Given the description of an element on the screen output the (x, y) to click on. 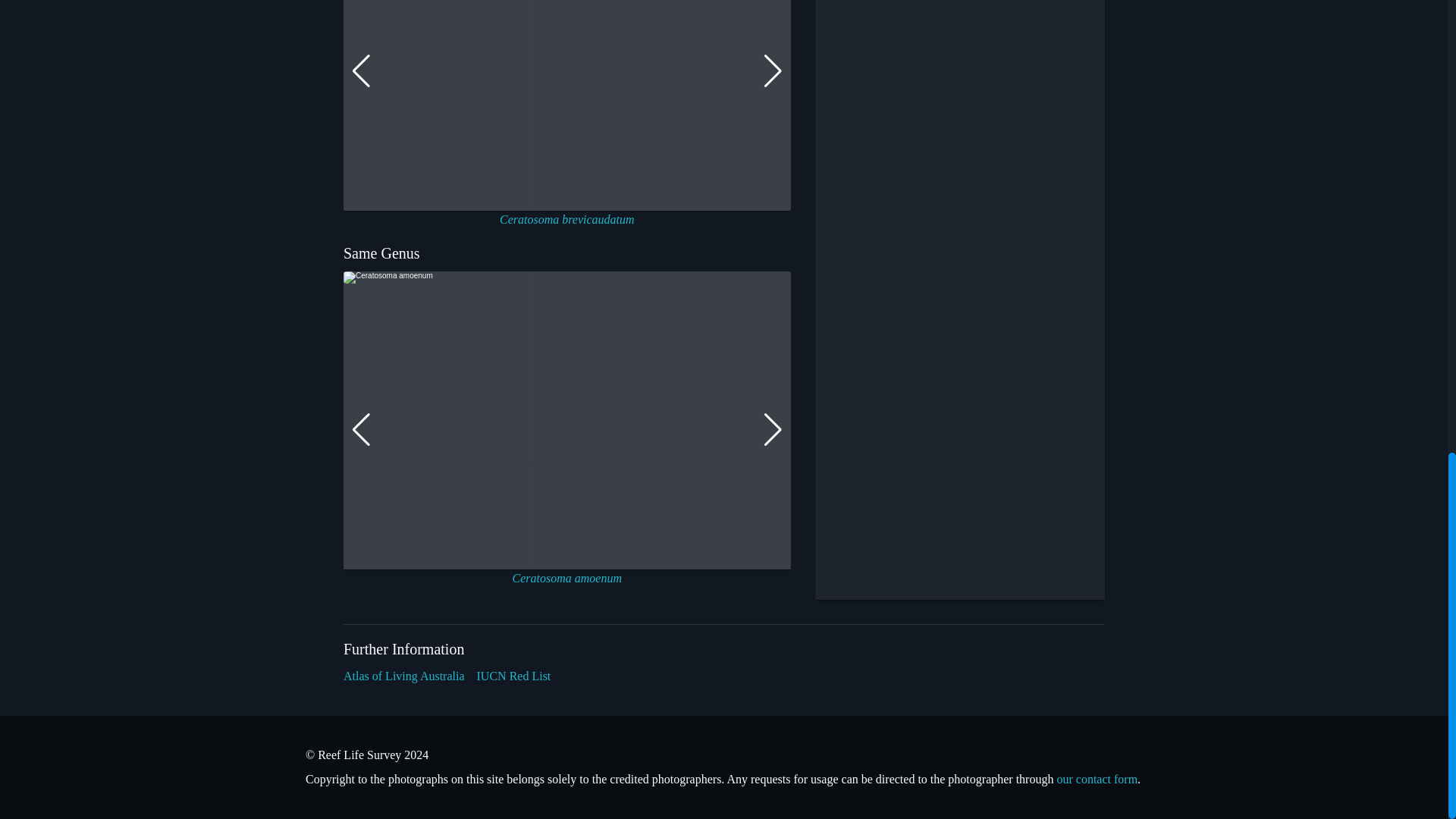
Ceratosoma brevicaudatum (566, 219)
Atlas of Living Australia (403, 675)
IUCN Red List (514, 675)
Ceratosoma amoenum (566, 577)
our contact form (1097, 779)
